Given the description of an element on the screen output the (x, y) to click on. 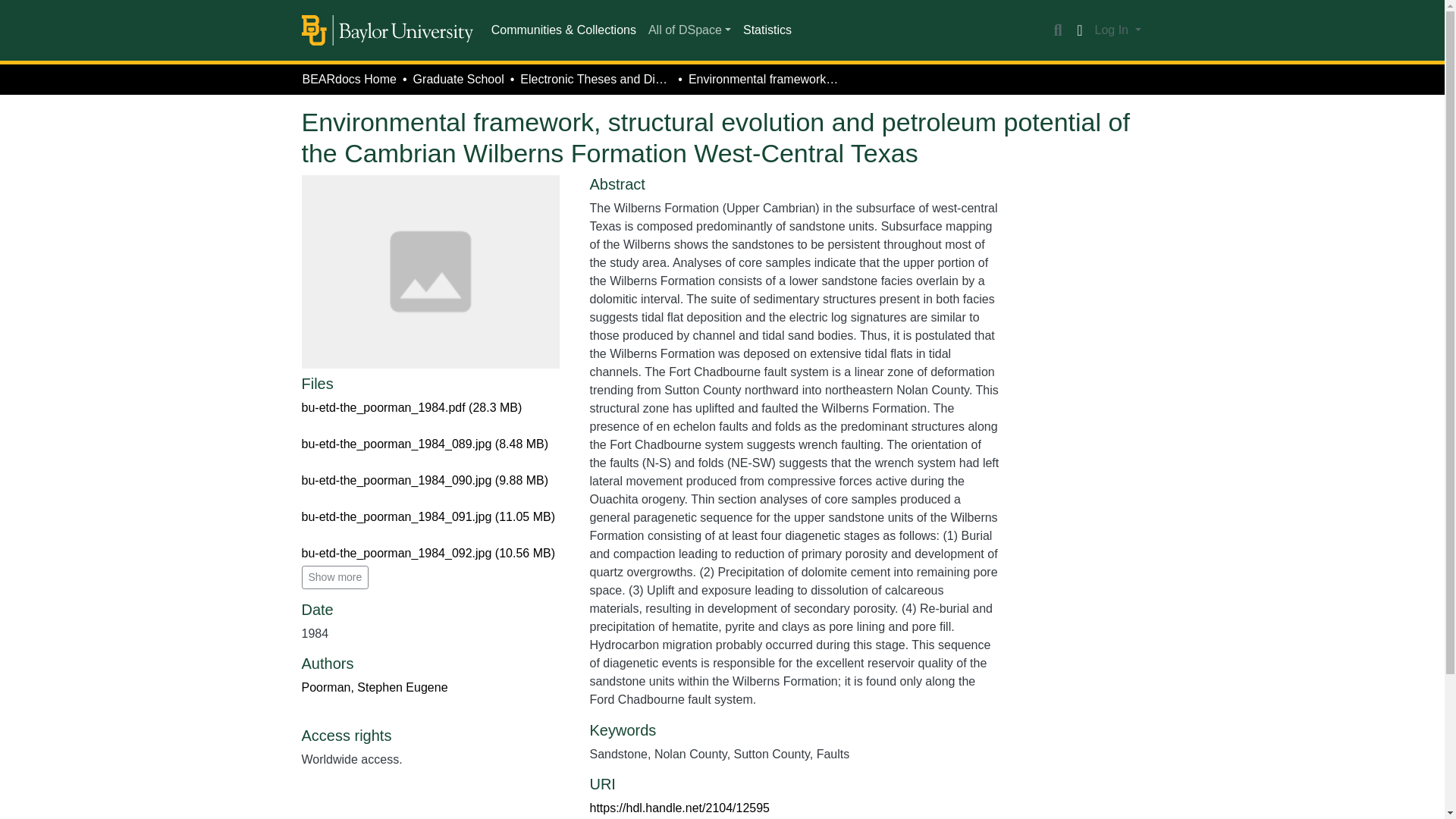
Show more (335, 576)
Statistics (766, 30)
Poorman, Stephen Eugene (374, 686)
Statistics (766, 30)
Language switch (1079, 30)
Electronic Theses and Dissertations (595, 79)
Graduate School (458, 79)
BEARdocs Home (348, 79)
Log In (1117, 30)
Search (1057, 30)
All of DSpace (689, 30)
